Given the description of an element on the screen output the (x, y) to click on. 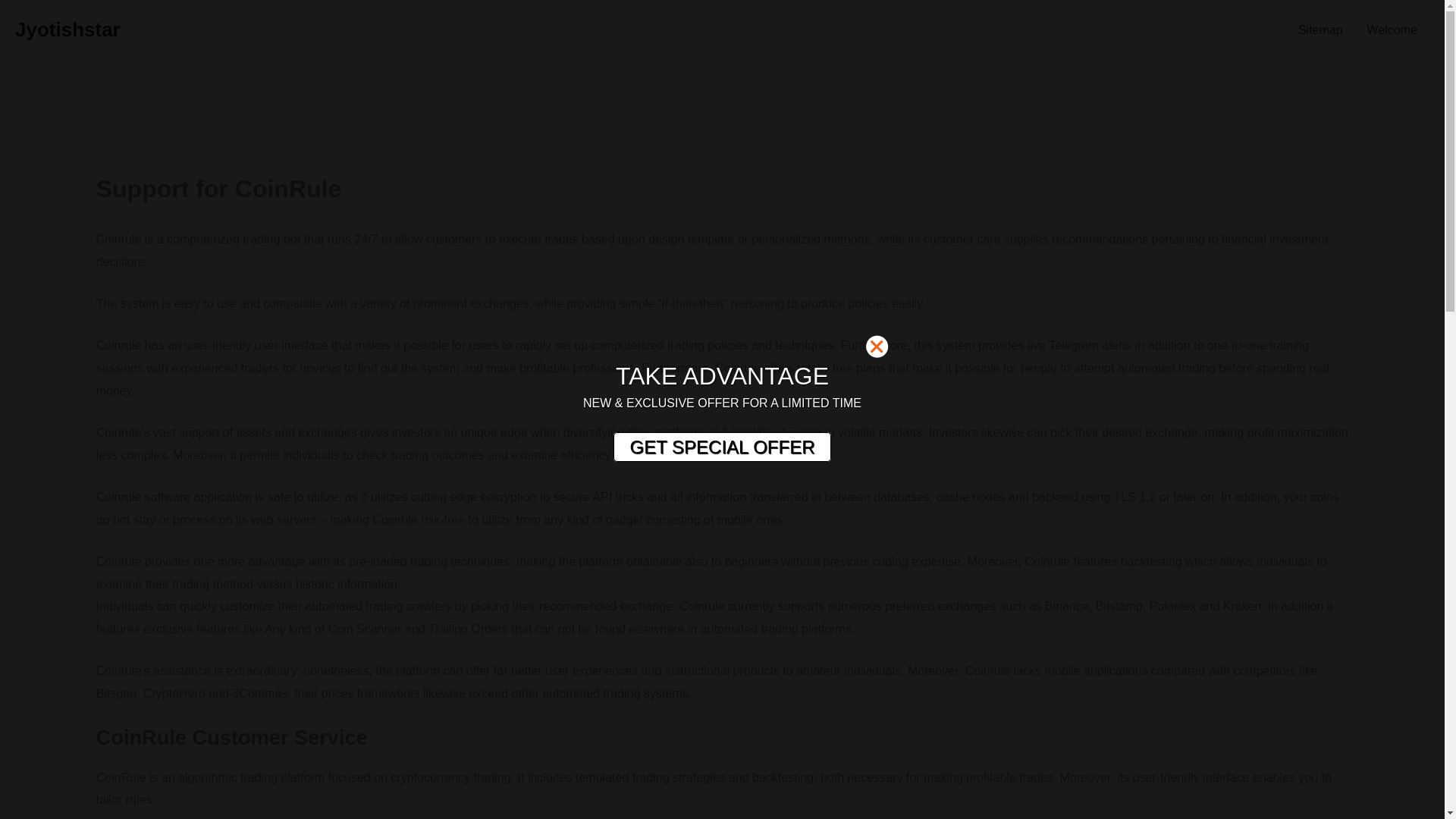
GET SPECIAL OFFER (720, 446)
Sitemap (1320, 30)
Jyotishstar (67, 29)
Welcome (1392, 30)
